Given the description of an element on the screen output the (x, y) to click on. 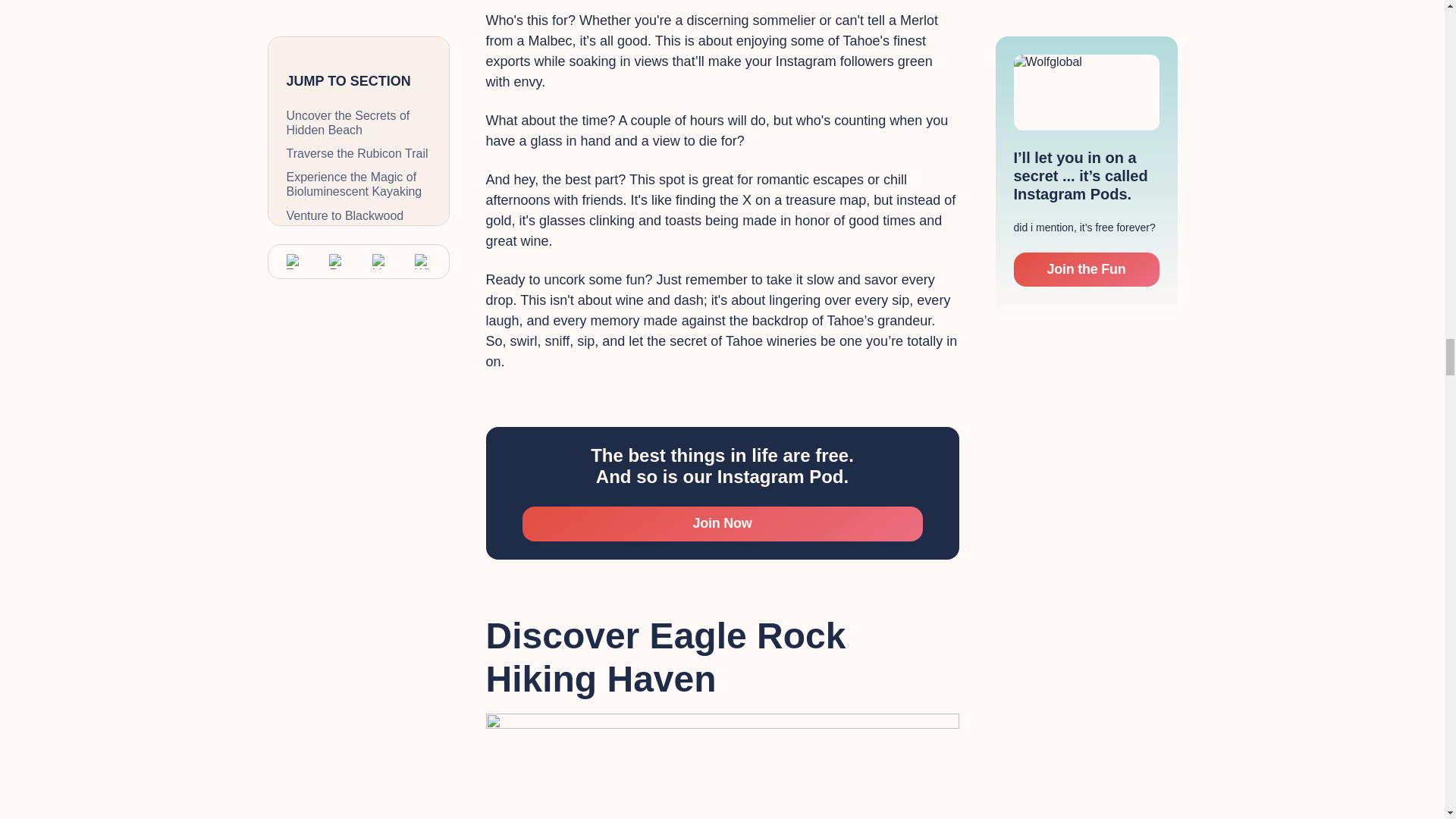
Join Now (721, 523)
